Given the description of an element on the screen output the (x, y) to click on. 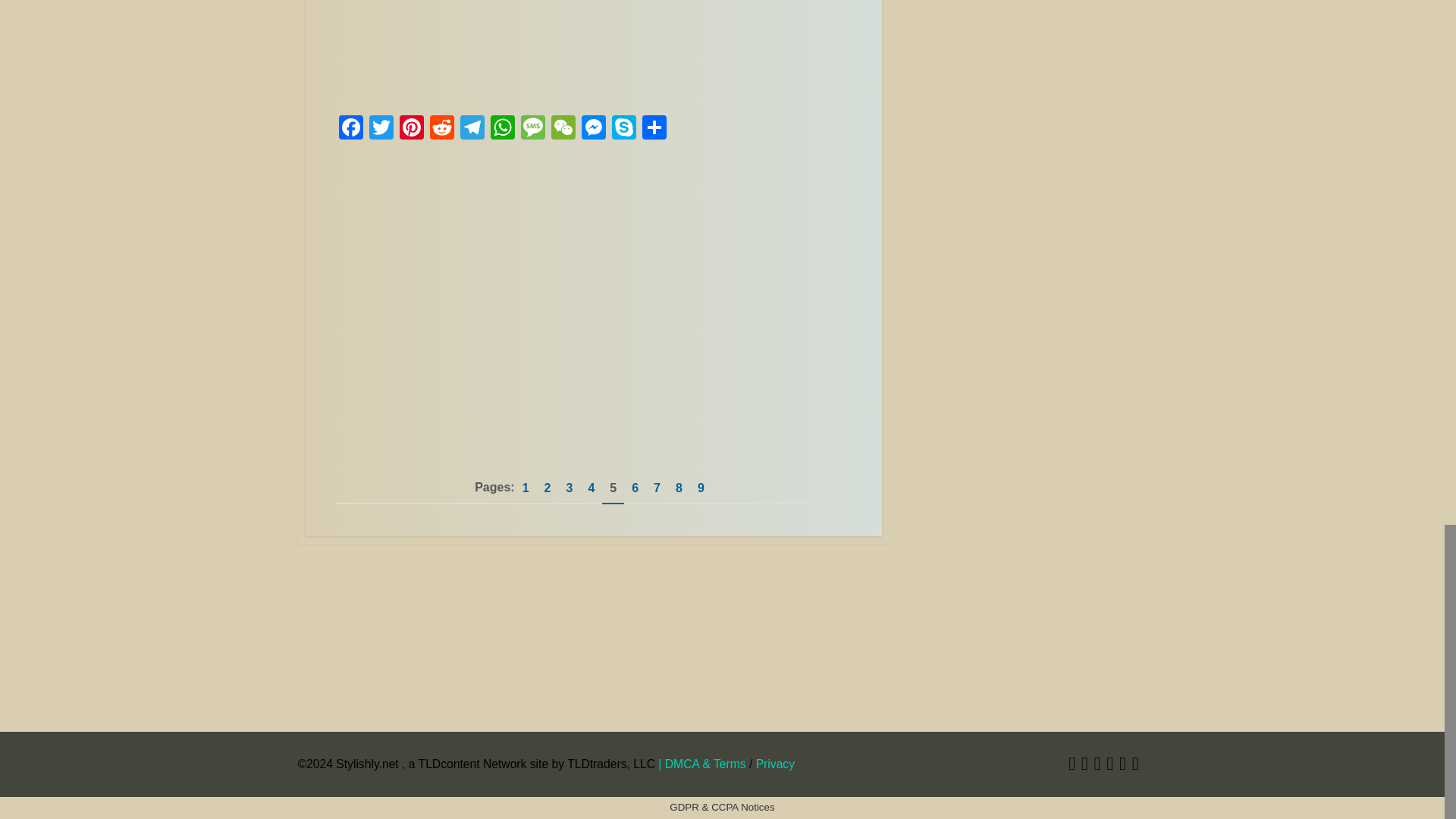
Facebook (349, 129)
WhatsApp (501, 129)
Facebook (349, 129)
Pinterest (411, 129)
WeChat (562, 129)
Twitter (380, 129)
Pinterest (411, 129)
Skype (623, 129)
Reddit (441, 129)
WeChat (562, 129)
Message (531, 129)
Telegram (471, 129)
Messenger (593, 129)
Share (653, 129)
Privacy (774, 763)
